Given the description of an element on the screen output the (x, y) to click on. 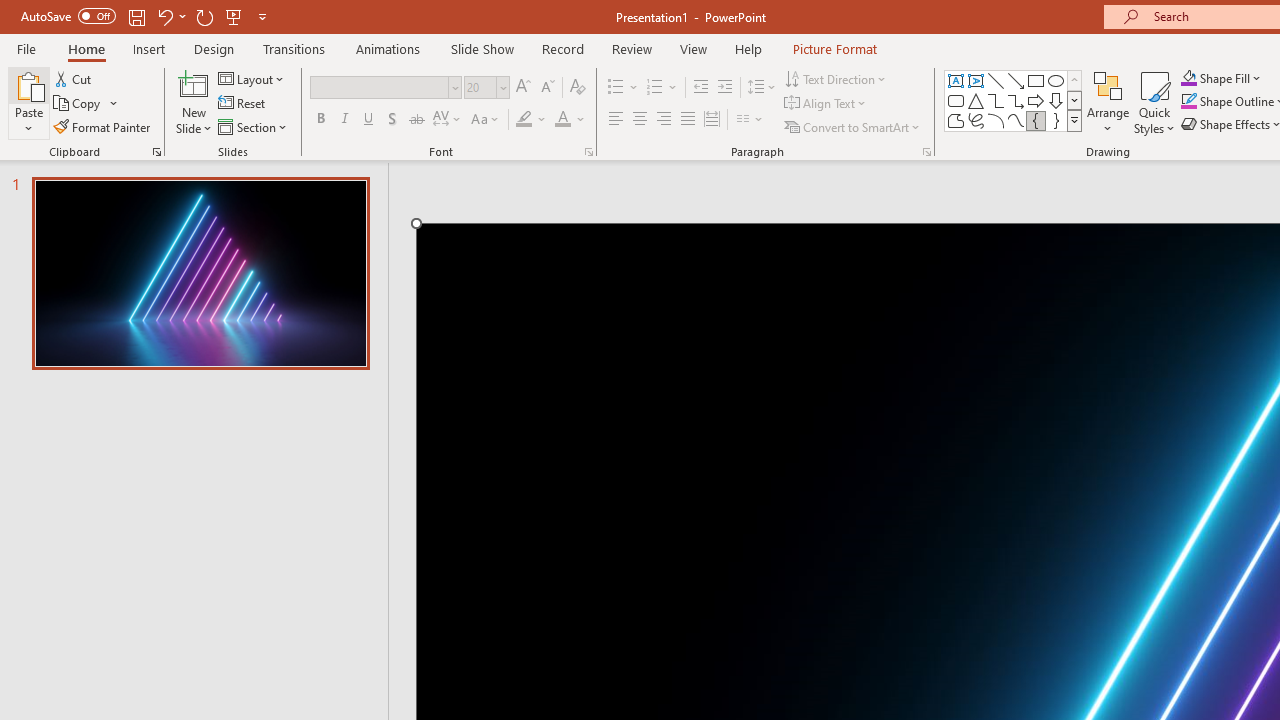
Picture Format (834, 48)
